Given the description of an element on the screen output the (x, y) to click on. 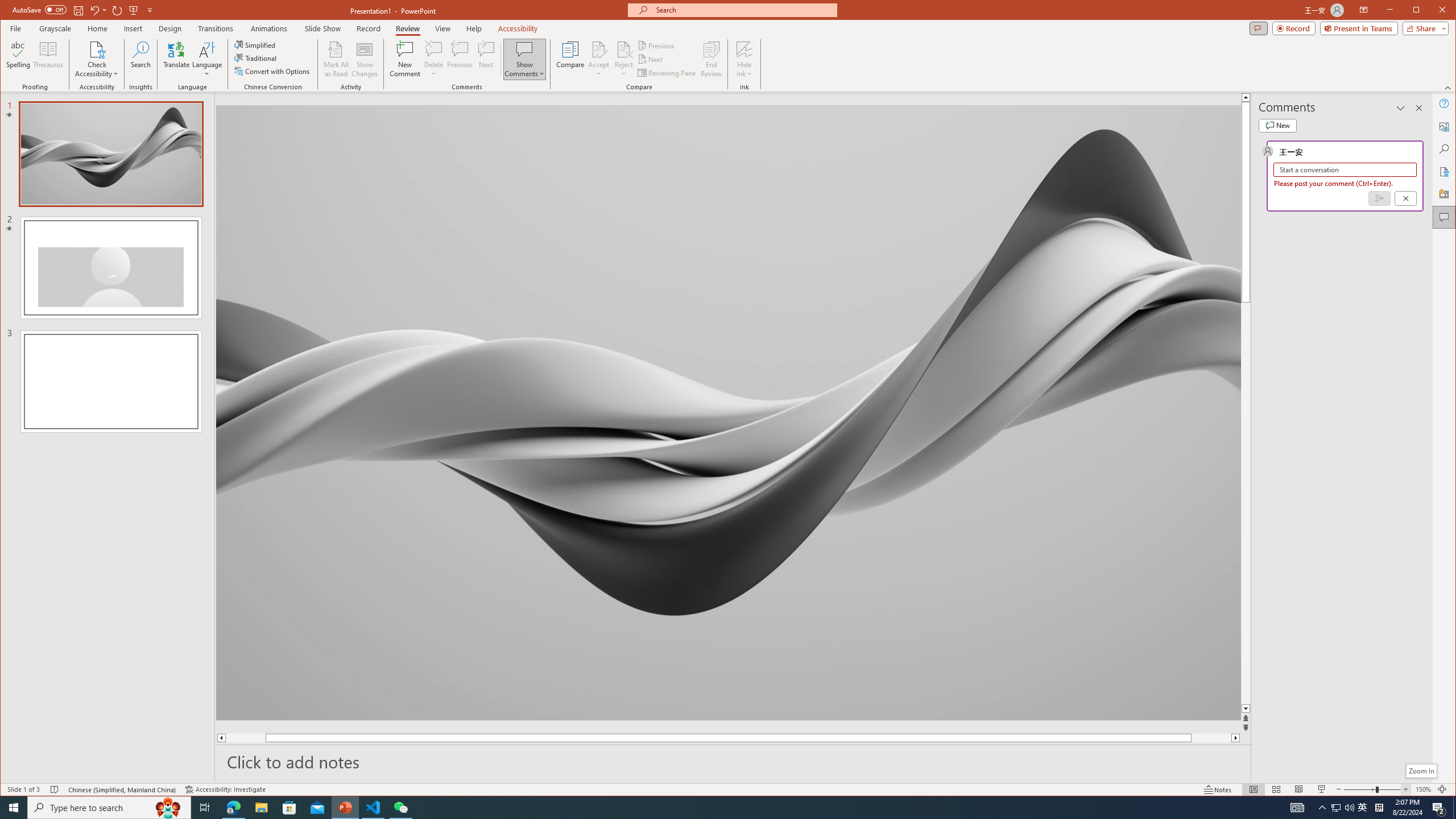
Post comment (Ctrl + Enter) (1379, 197)
Compare (569, 59)
Convert with Options... (272, 70)
